Given the description of an element on the screen output the (x, y) to click on. 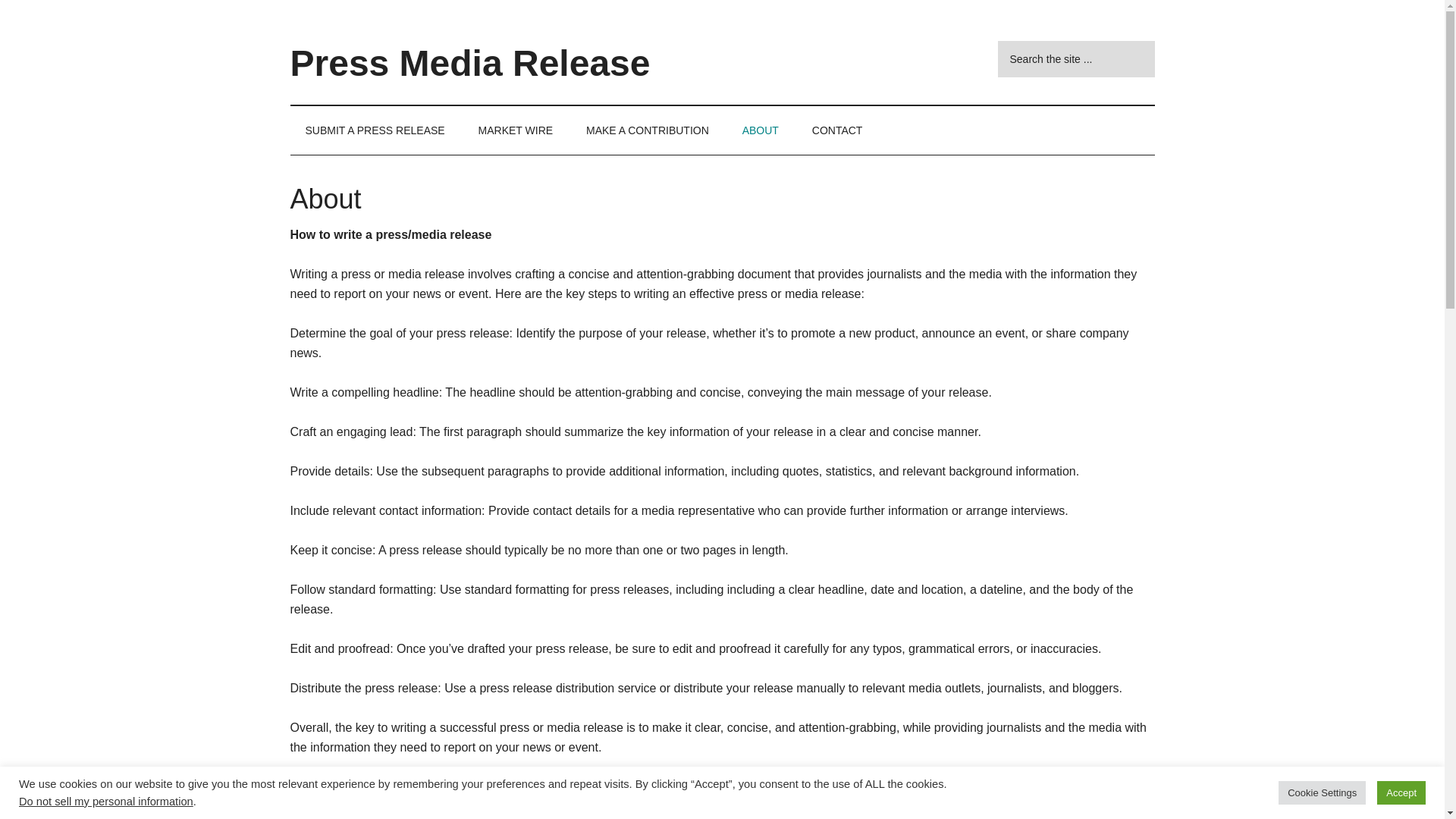
Press Media Release (469, 63)
SUBMIT A PRESS RELEASE (374, 130)
CONTACT (836, 130)
MAKE A CONTRIBUTION (646, 130)
MARKET WIRE (516, 130)
ABOUT (759, 130)
